Given the description of an element on the screen output the (x, y) to click on. 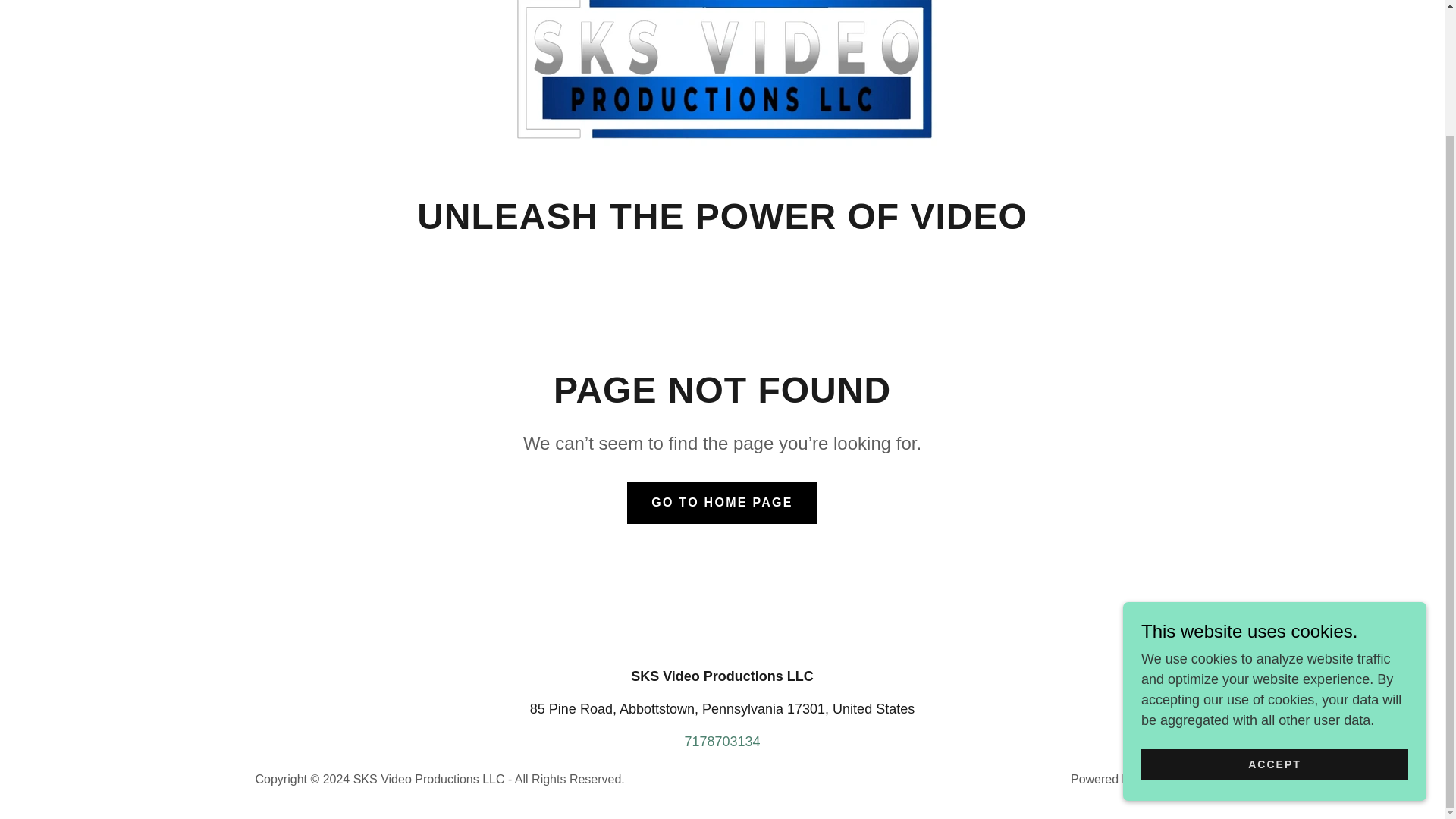
7178703134 (722, 741)
SKS Video Productions LLC (721, 66)
GoDaddy (1163, 779)
ACCEPT (1274, 612)
GO TO HOME PAGE (721, 502)
